Given the description of an element on the screen output the (x, y) to click on. 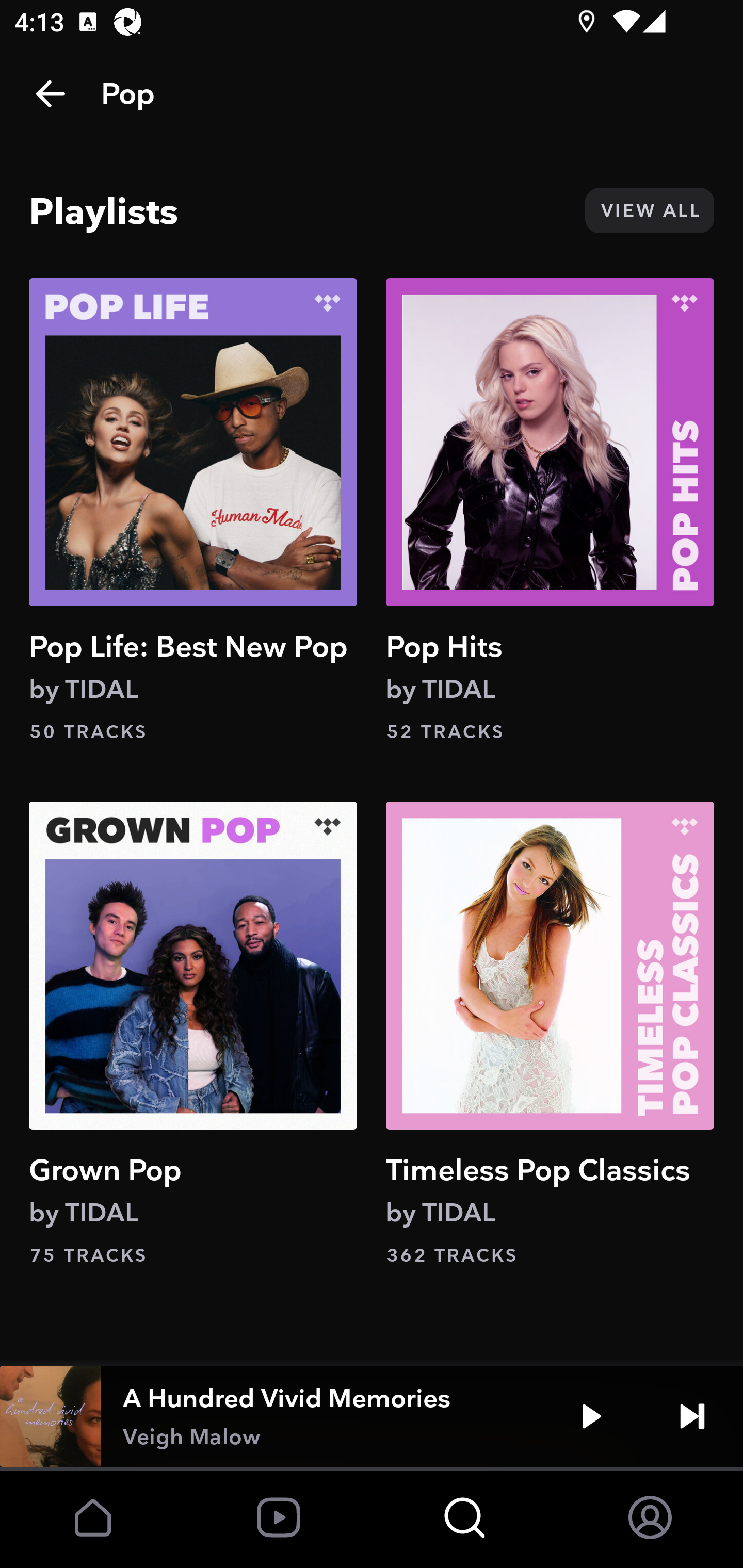
VIEW ALL (649, 210)
Pop Life: Best New Pop by TIDAL 50 TRACKS (192, 510)
Pop Hits by TIDAL 52 TRACKS (549, 510)
Grown Pop by TIDAL 75 TRACKS (192, 1033)
Timeless Pop Classics by TIDAL 362 TRACKS (549, 1033)
A Hundred Vivid Memories Veigh Malow Play (371, 1416)
Play (590, 1416)
